Given the description of an element on the screen output the (x, y) to click on. 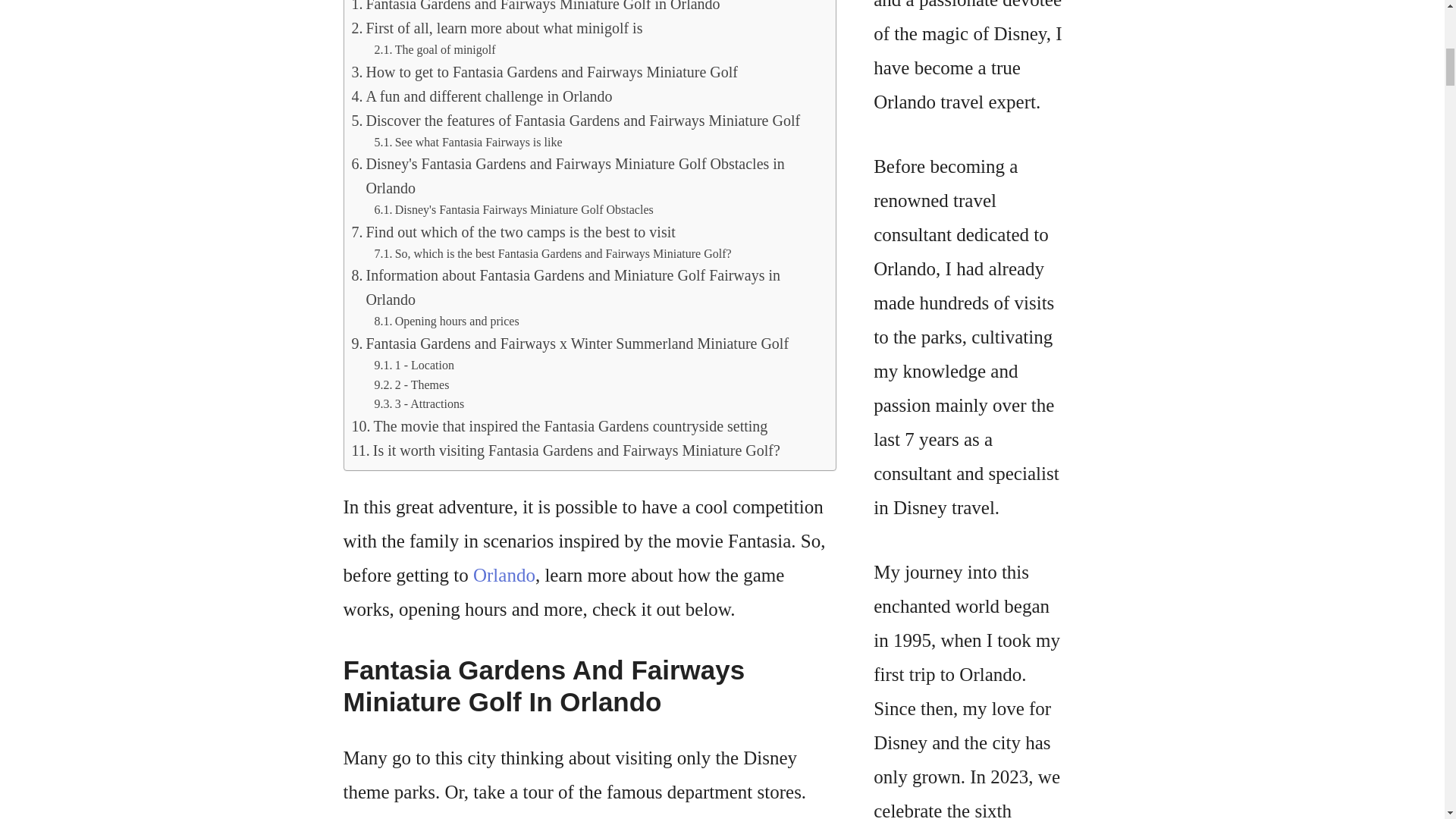
Fantasia Gardens and Fairways Miniature Golf in Orlando (536, 7)
Opening hours and prices (446, 321)
The goal of minigolf (435, 49)
A fun and different challenge in Orlando (482, 96)
See what Fantasia Fairways is like (468, 142)
First of all, learn more about what minigolf is (497, 27)
See how the Fantasia Fairways is (468, 142)
Fantasia Gardens and Fairways Miniature Golf in Orlando (536, 7)
Disney's Fantasia Fairways Miniature Golf Obstacles (513, 209)
